Given the description of an element on the screen output the (x, y) to click on. 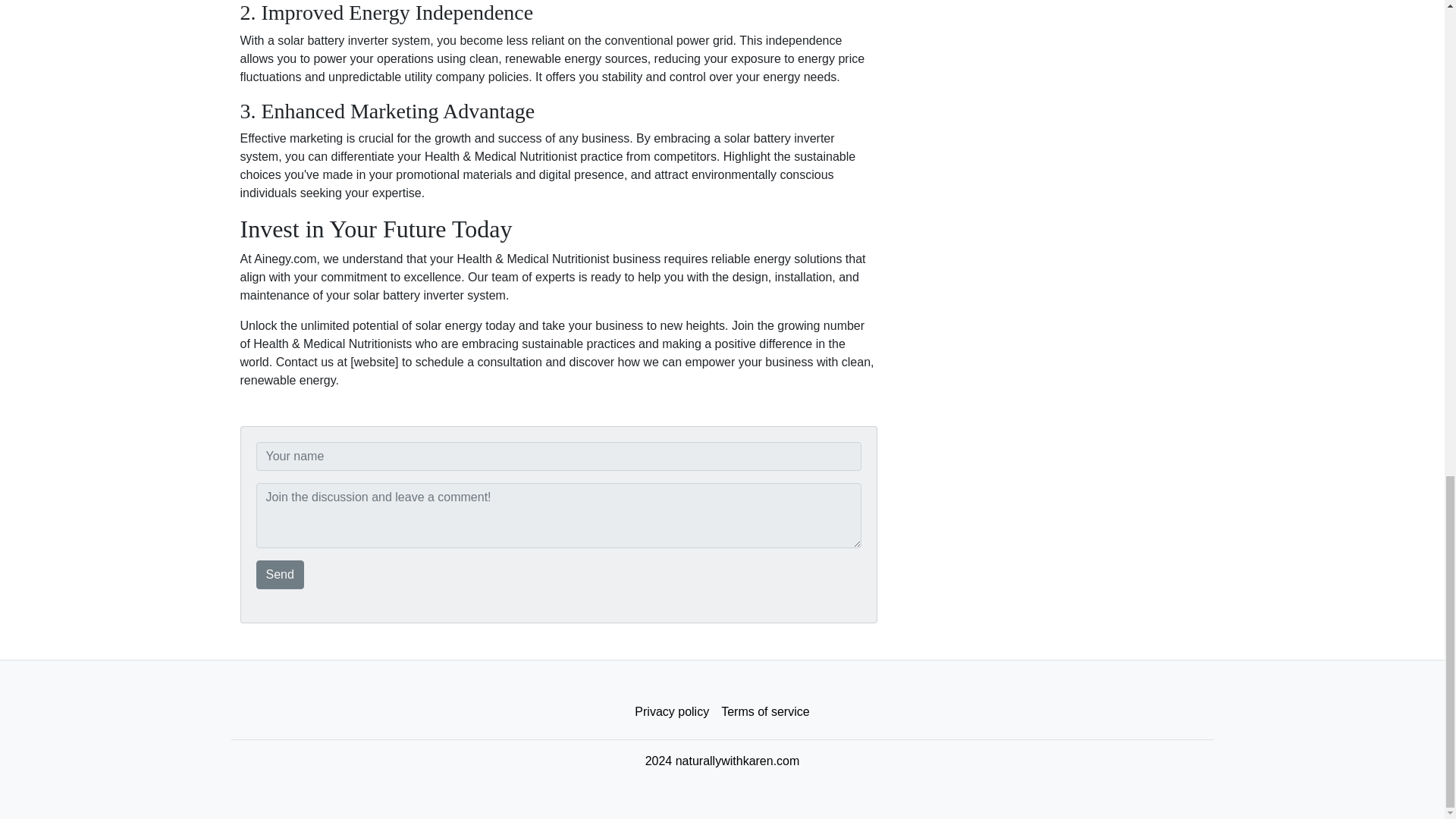
Privacy policy (671, 711)
Terms of service (764, 711)
Send (280, 574)
Send (280, 574)
